Given the description of an element on the screen output the (x, y) to click on. 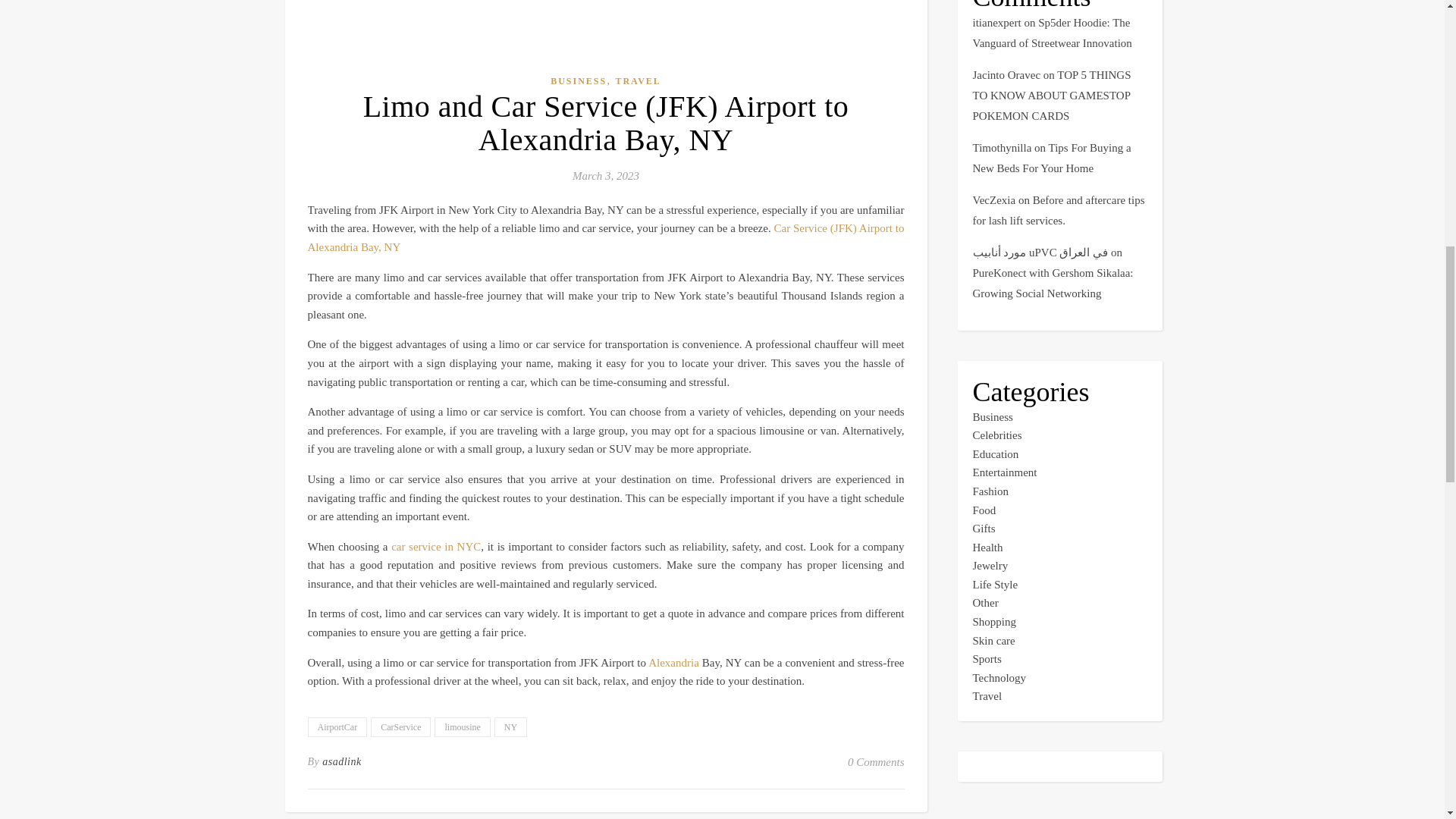
NY (511, 727)
Alexandria (674, 662)
CarService (400, 727)
BUSINESS (578, 81)
TRAVEL (637, 81)
car service in NYC (435, 546)
limousine (461, 727)
0 Comments (875, 762)
asadlink (341, 762)
Posts by asadlink (341, 762)
